Given the description of an element on the screen output the (x, y) to click on. 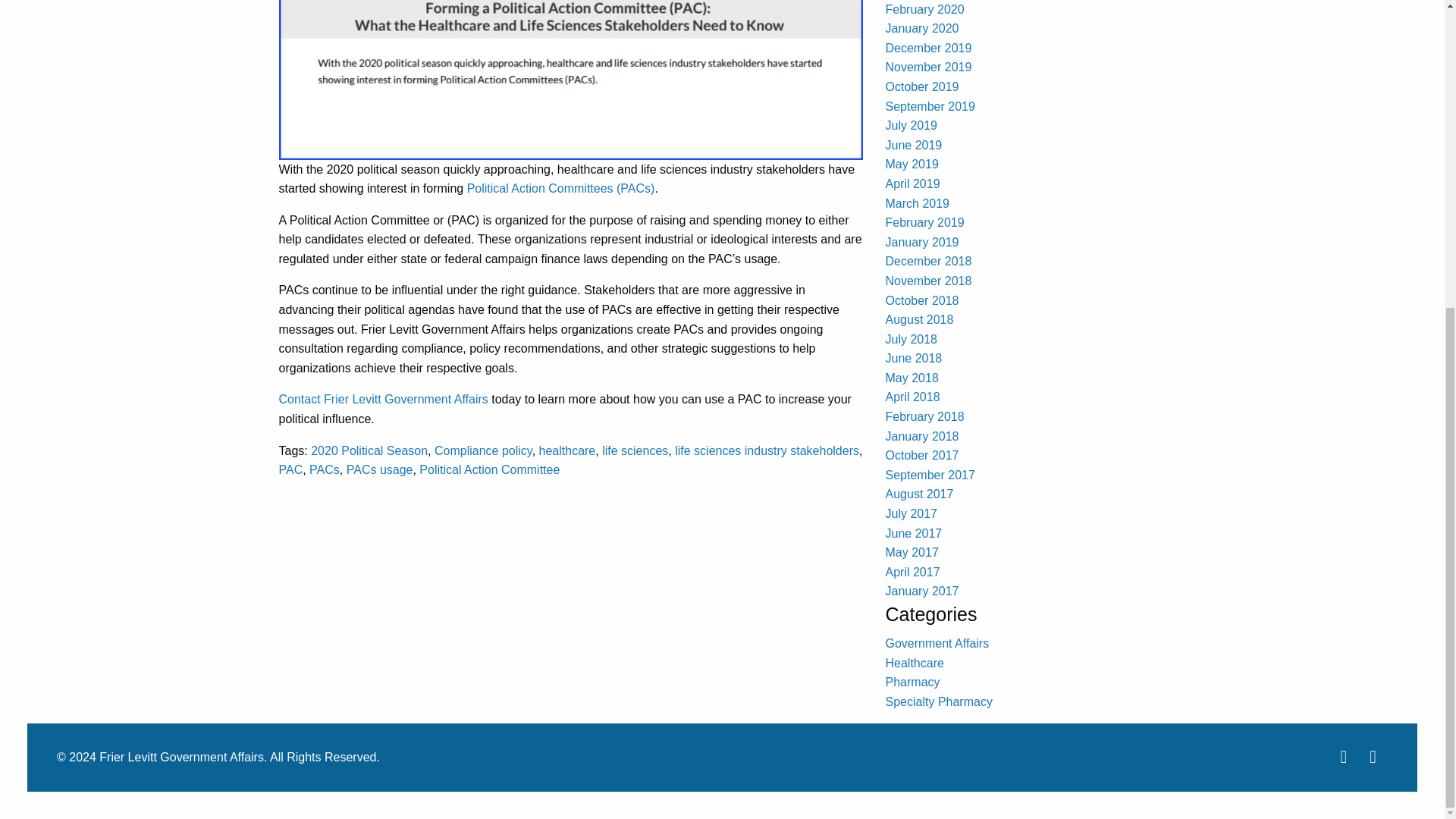
PAC (290, 469)
2020 Political Season (369, 450)
December 2019 (928, 47)
Political Action Committee (489, 469)
November 2019 (928, 66)
PACs (323, 469)
January 2020 (922, 28)
Contact Frier Levitt Government Affairs (383, 399)
Compliance policy (482, 450)
healthcare (566, 450)
life sciences (635, 450)
February 2020 (924, 9)
PACs usage (379, 469)
life sciences industry stakeholders (767, 450)
